Given the description of an element on the screen output the (x, y) to click on. 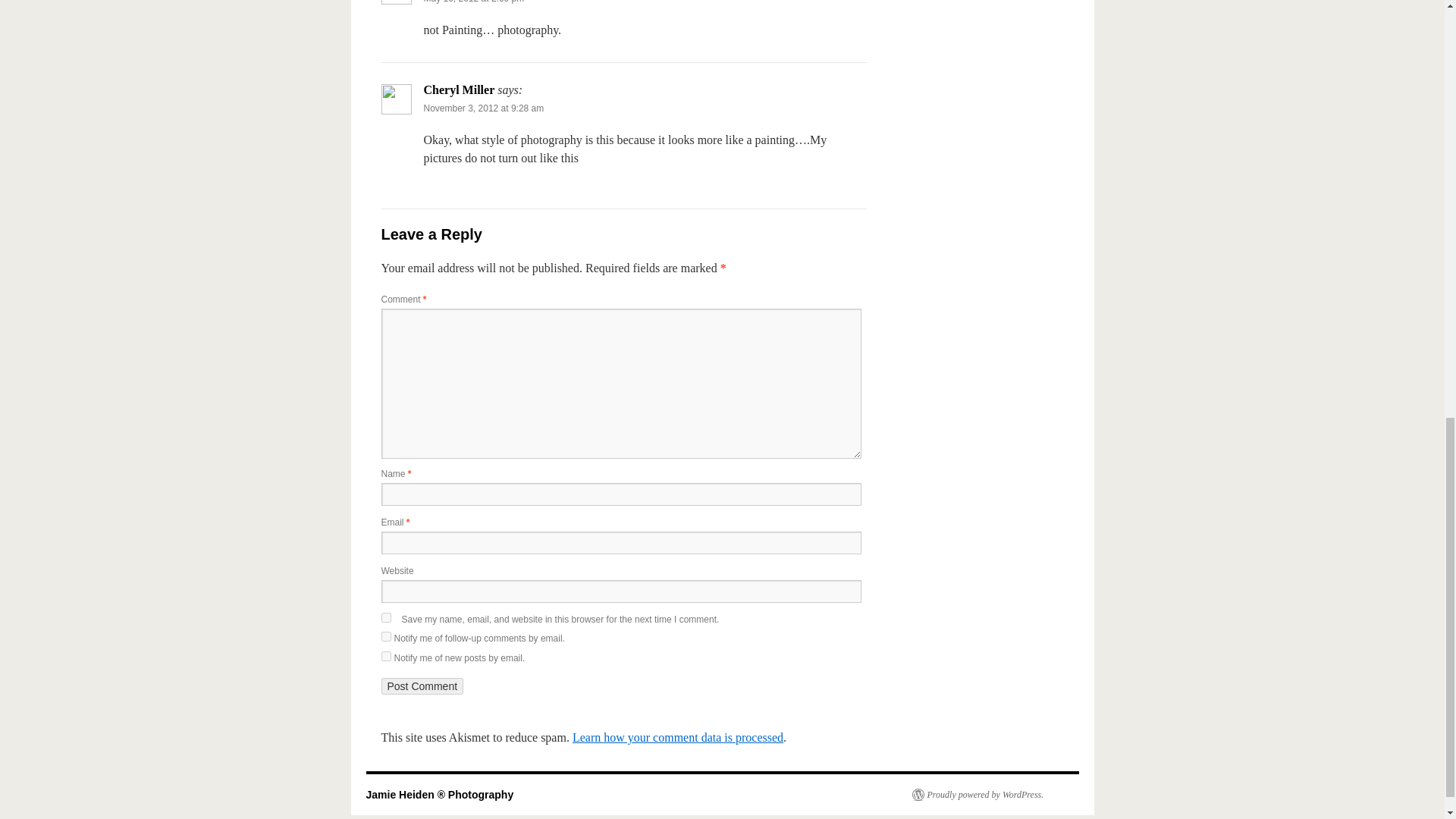
yes (385, 617)
Post Comment (421, 686)
May 10, 2012 at 2:09 pm (473, 2)
Post Comment (421, 686)
subscribe (385, 655)
November 3, 2012 at 9:28 am (483, 108)
subscribe (385, 636)
Learn how your comment data is processed (677, 737)
Semantic Personal Publishing Platform (977, 794)
